Given the description of an element on the screen output the (x, y) to click on. 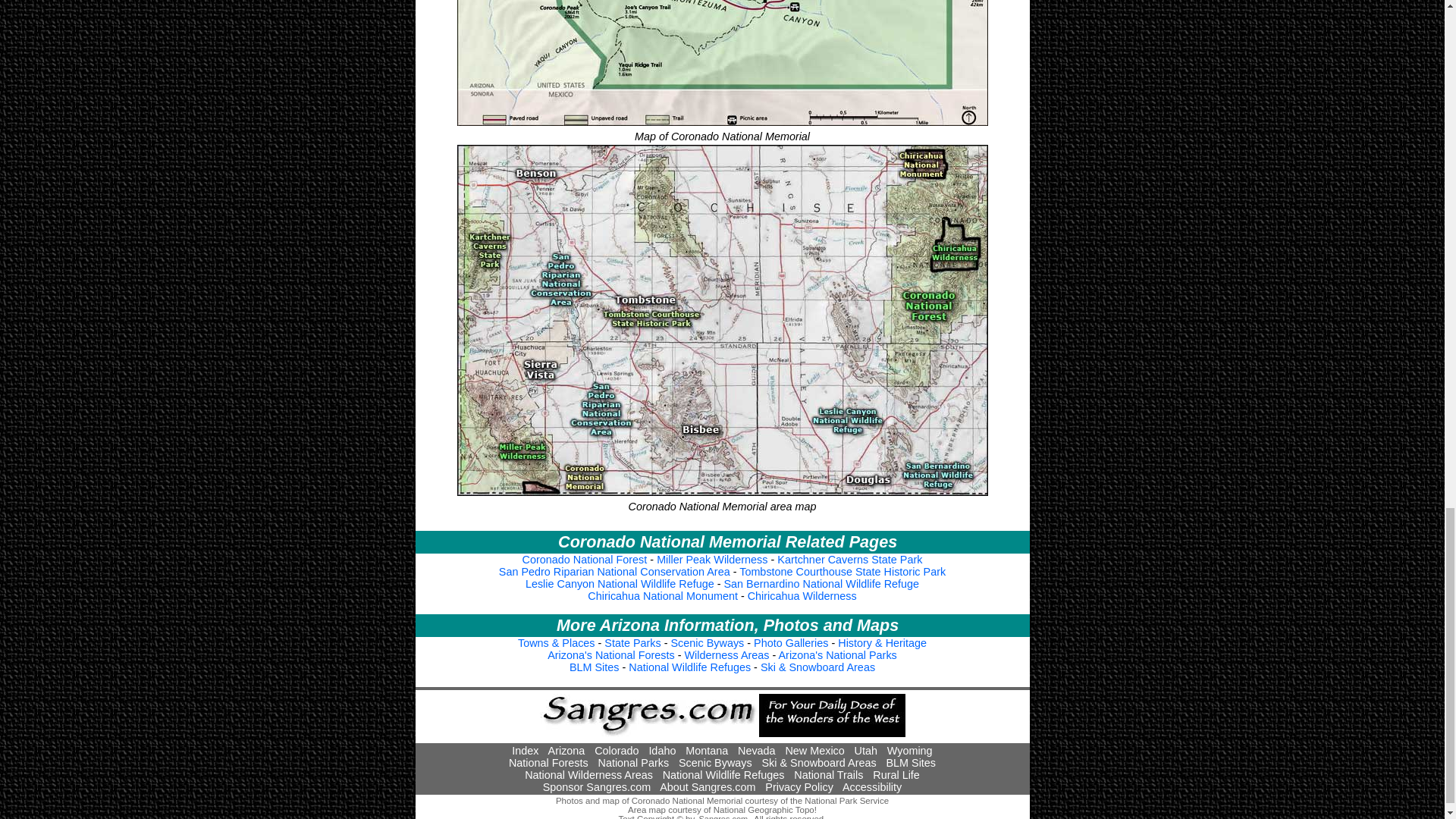
Leslie Canyon National Wildlife Refuge (619, 583)
Wilderness Areas (726, 654)
Map of Coronado National Memorial (722, 64)
Utah (865, 750)
Chiricahua National Monument (663, 595)
National Forests (548, 762)
Kartchner Caverns State Park (849, 559)
Coronado National Forest (584, 559)
Scenic Byways (715, 762)
Colorado (616, 750)
Scenic Byways (707, 643)
National Parks (633, 762)
Index (525, 750)
Montana (706, 750)
Wyoming (909, 750)
